Given the description of an element on the screen output the (x, y) to click on. 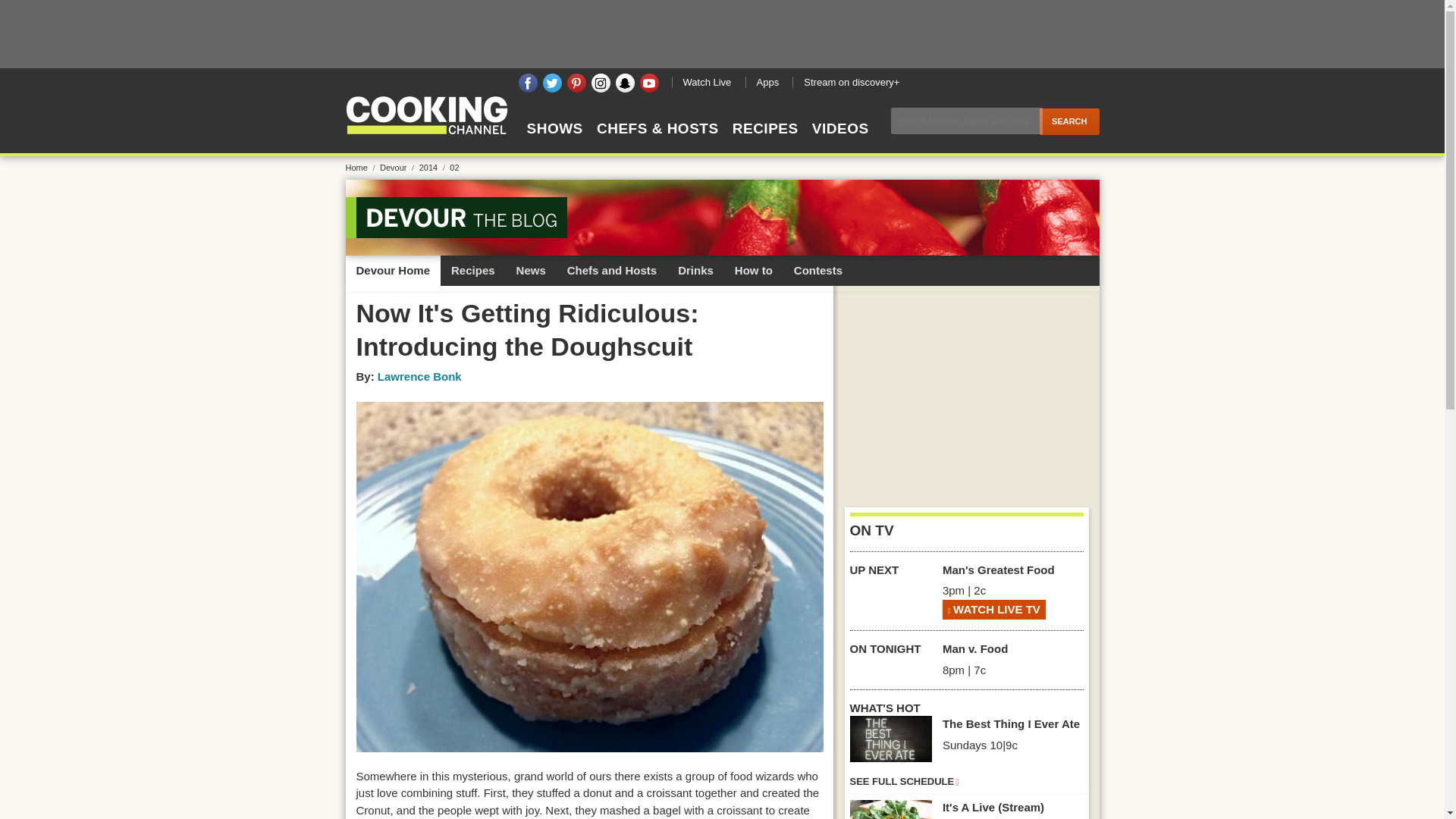
Recipes (473, 269)
Follow us on Pinterest (576, 82)
Drinks (694, 269)
The Best Thing I Ever Ate (889, 738)
VIDEOS (840, 141)
Lawrence Bonk (419, 376)
Chefs and Hosts (611, 269)
Follow us on Twitter (552, 82)
Follow us on Instagram (600, 82)
Follow us on YouTube (649, 82)
